Given the description of an element on the screen output the (x, y) to click on. 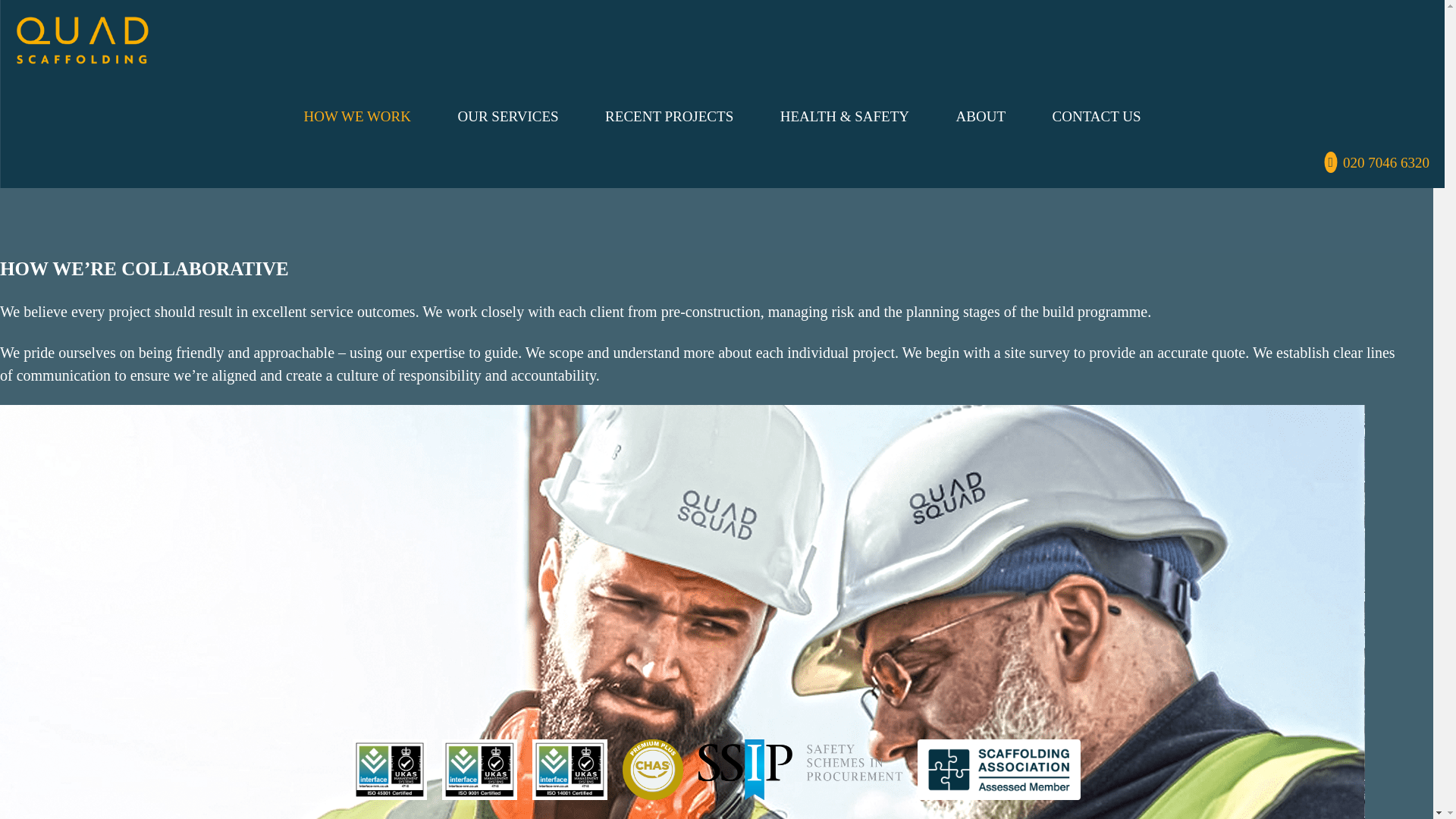
HOW WE WORK (358, 116)
CONTACT US (1096, 116)
ABOUT (981, 116)
RECENT PROJECTS (668, 116)
OUR SERVICES (507, 116)
